Given the description of an element on the screen output the (x, y) to click on. 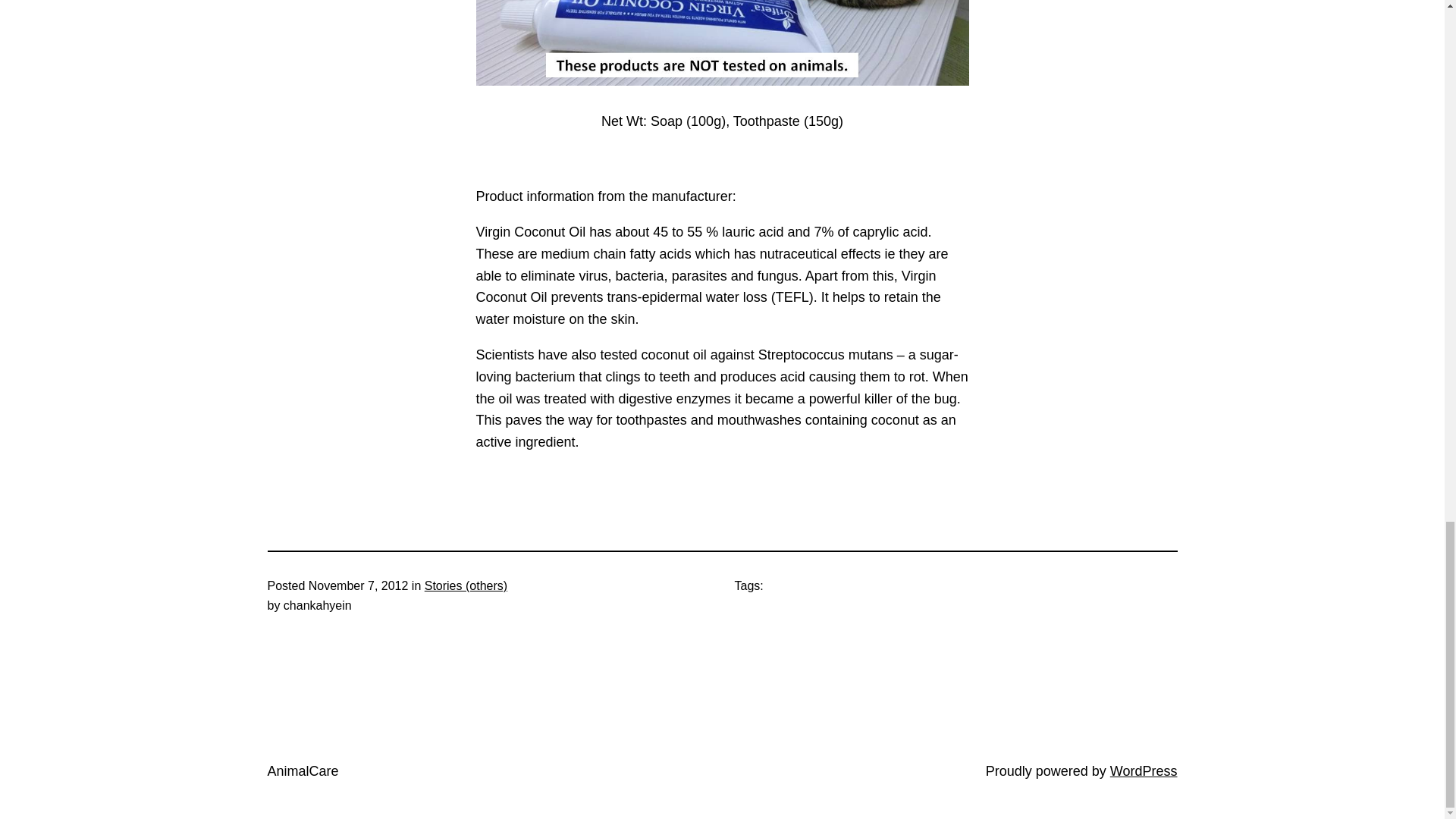
VCO (722, 42)
WordPress (1143, 770)
AnimalCare (301, 770)
